Given the description of an element on the screen output the (x, y) to click on. 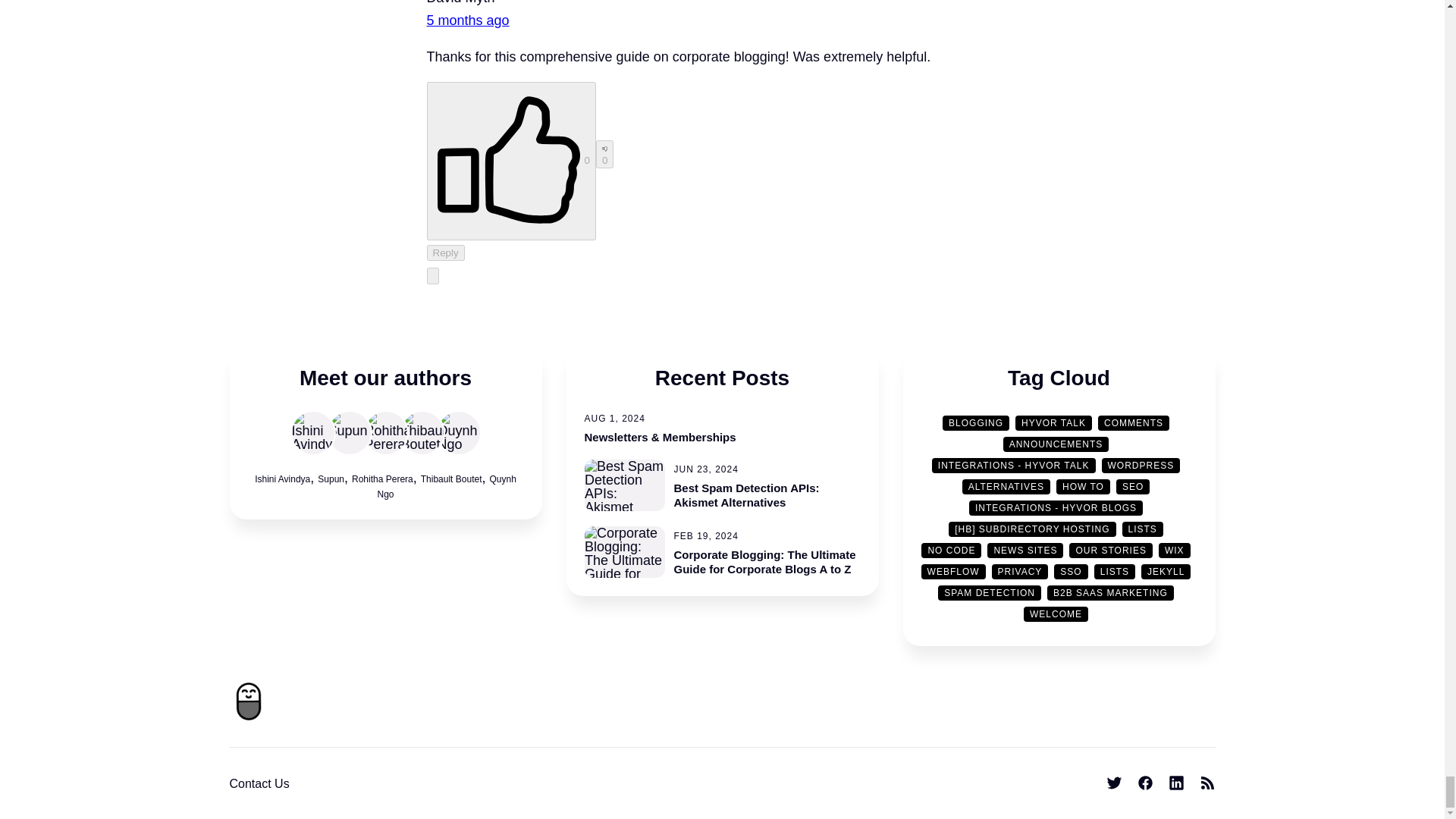
Facebook (1145, 782)
Twitter (1113, 782)
Linkedin (1175, 782)
Logo Twitter (1113, 782)
Logo Facebook (1145, 782)
Logo Linkedin (1175, 782)
Logo Rss (1207, 782)
